Given the description of an element on the screen output the (x, y) to click on. 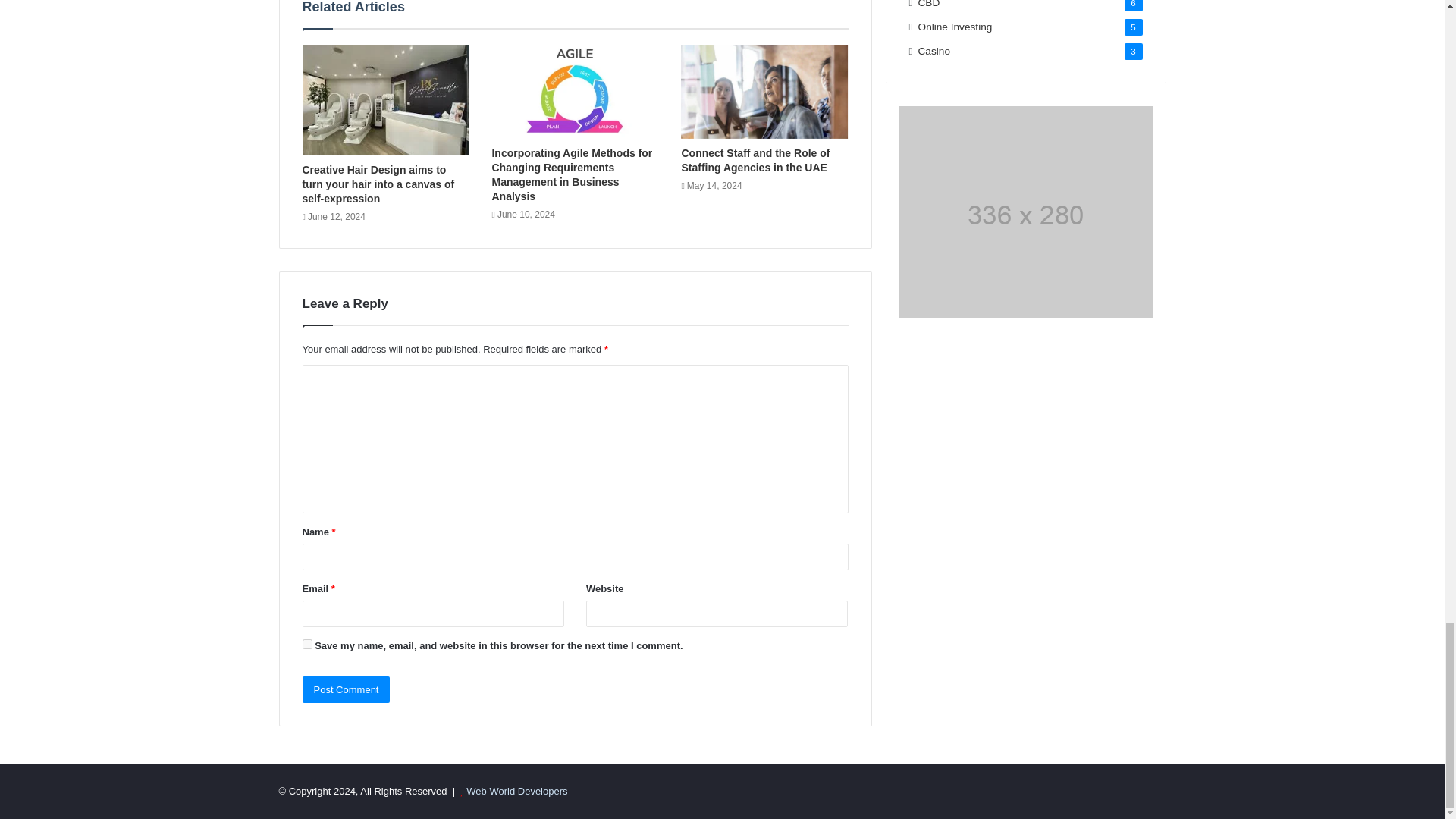
Post Comment (345, 689)
yes (306, 644)
